Given the description of an element on the screen output the (x, y) to click on. 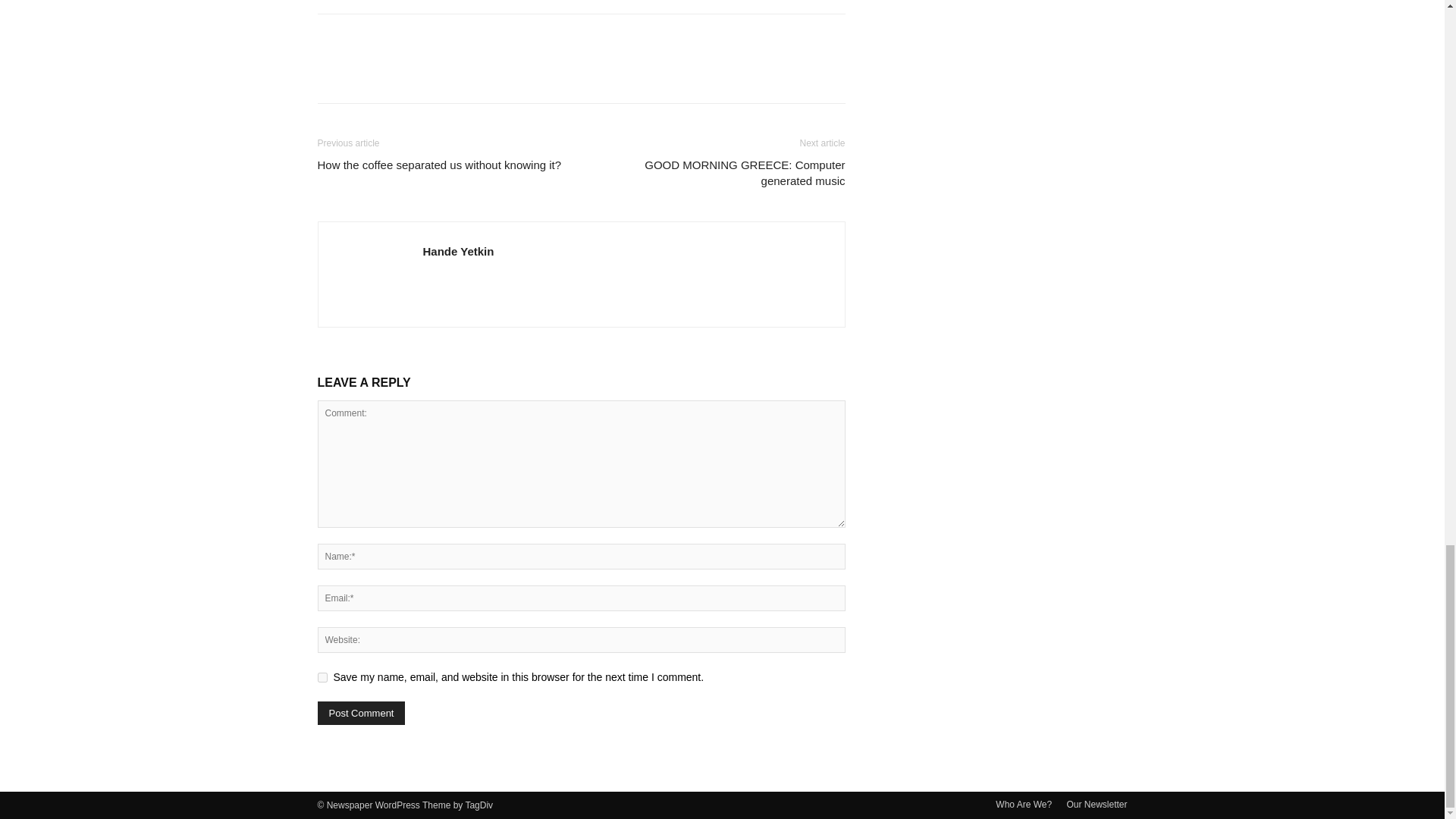
Post Comment (360, 712)
bottomFacebookLike (430, 37)
yes (321, 677)
